Given the description of an element on the screen output the (x, y) to click on. 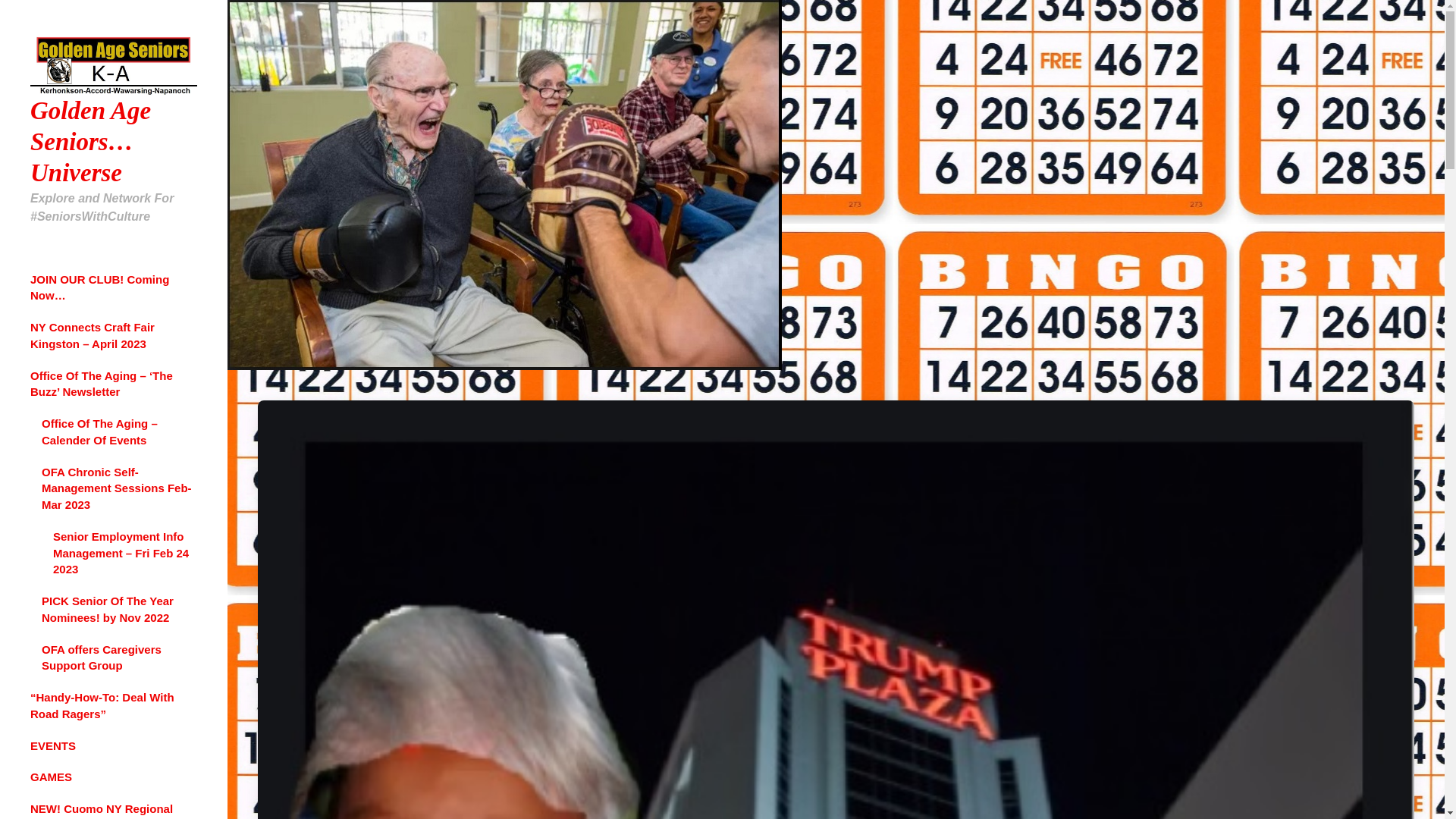
EVENTS (52, 745)
PICK Senior Of The Year Nominees! by Nov 2022 (107, 609)
GAMES (50, 776)
OFA Chronic Self-Management Sessions Feb-Mar 2023 (117, 488)
OFA offers Caregivers Support Group (101, 657)
